Given the description of an element on the screen output the (x, y) to click on. 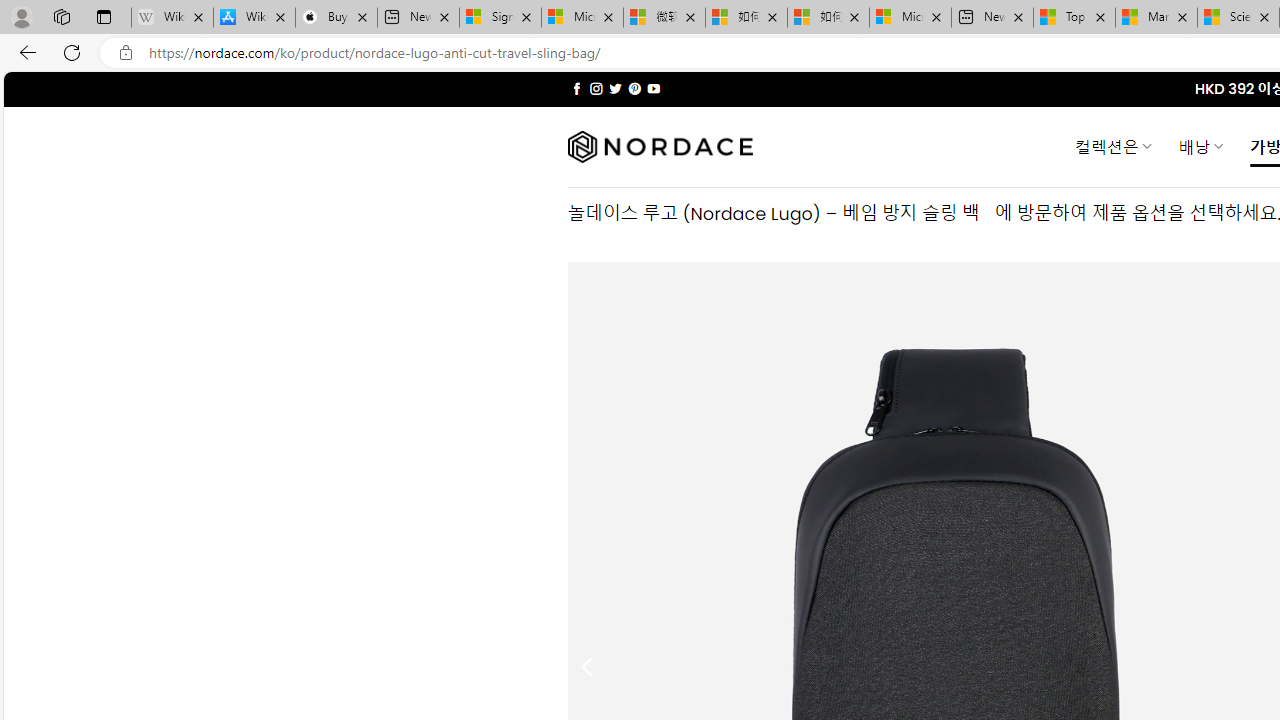
Top Stories - MSN (1074, 17)
